Given the description of an element on the screen output the (x, y) to click on. 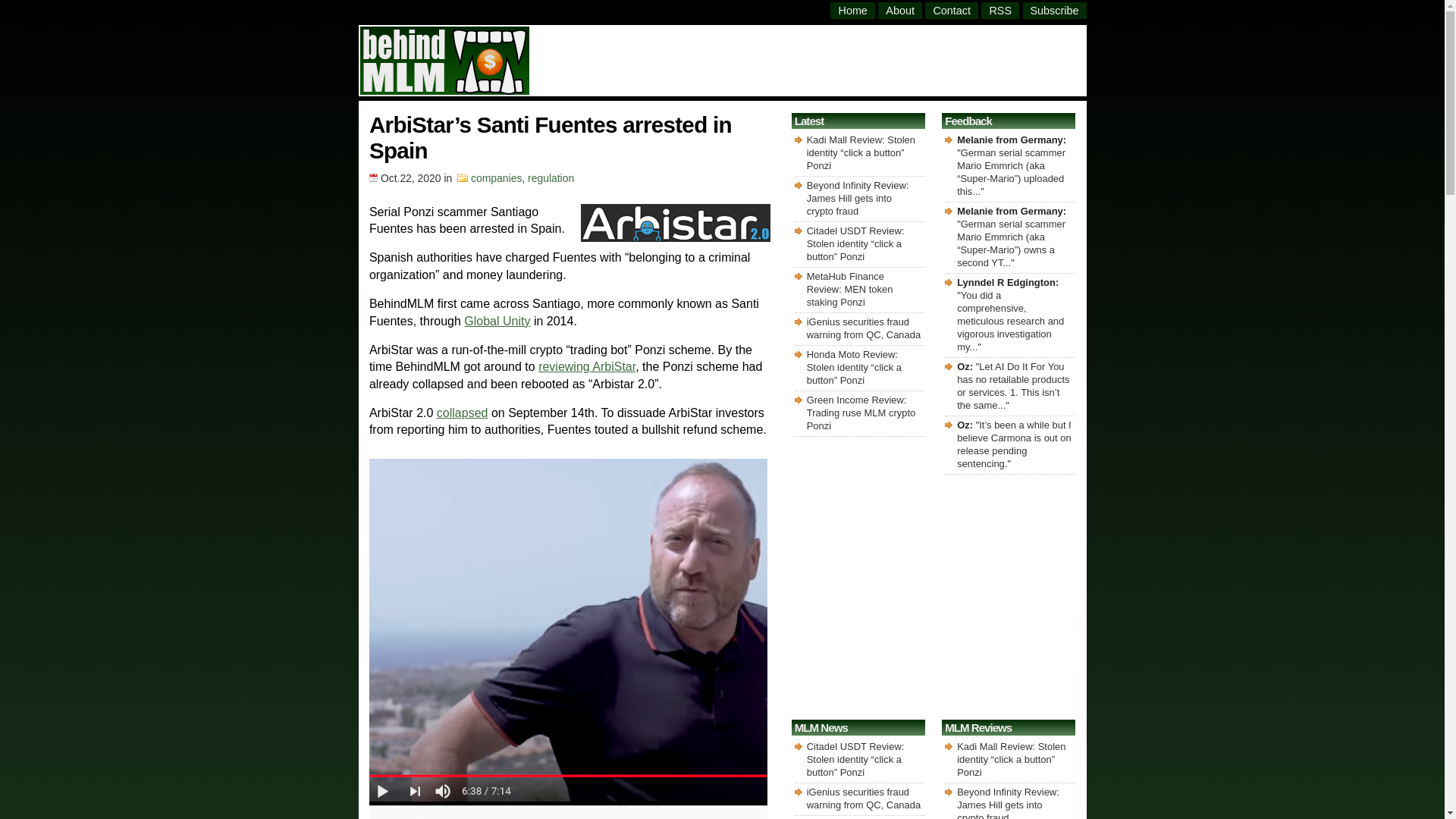
reviewing ArbiStar (586, 366)
companies (495, 177)
Global Unity (496, 320)
collapsed (461, 412)
regulation (550, 177)
